Given the description of an element on the screen output the (x, y) to click on. 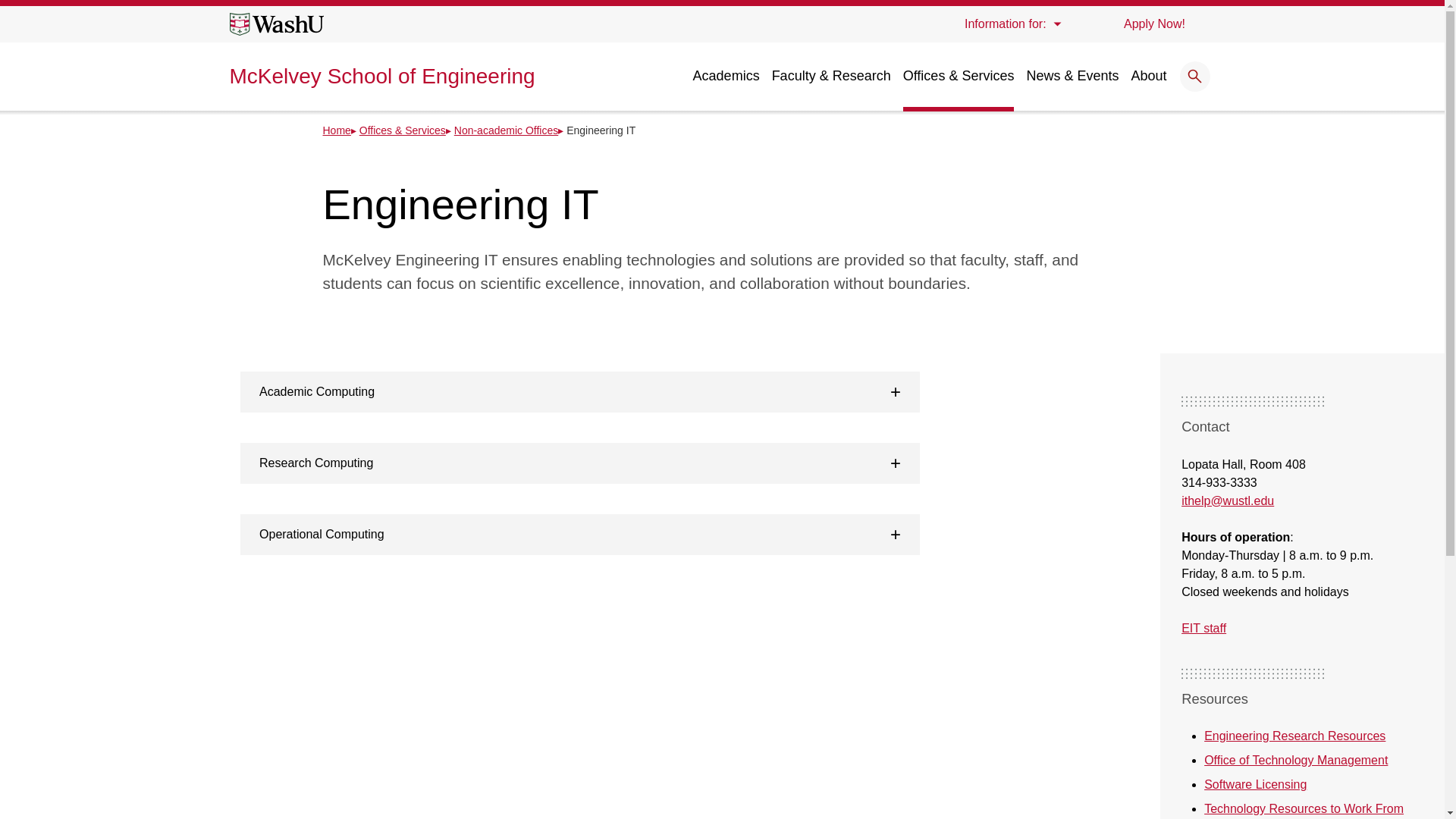
McKelvey School of Engineering (381, 75)
Apply Now! (1153, 23)
Information for: (1011, 23)
Academics (726, 76)
